Given the description of an element on the screen output the (x, y) to click on. 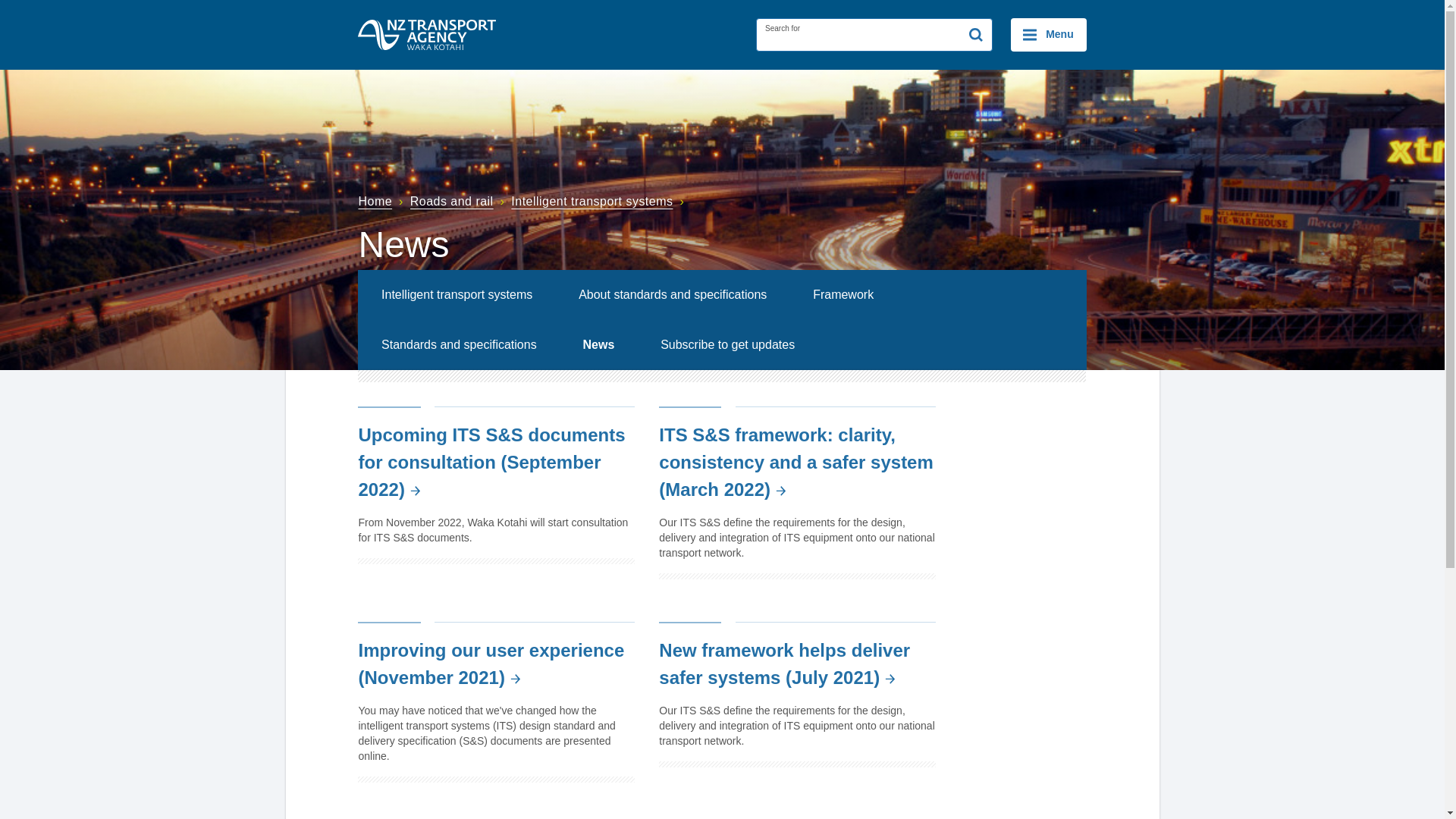
NZ Transport Agency Waka Kotahi (427, 34)
Menu (1048, 34)
Home (382, 201)
